Given the description of an element on the screen output the (x, y) to click on. 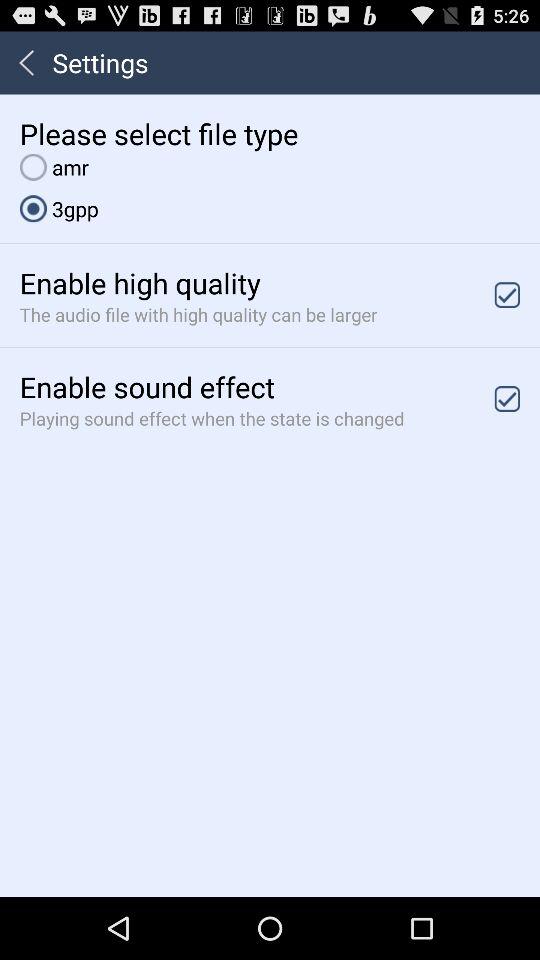
go back (26, 62)
